Given the description of an element on the screen output the (x, y) to click on. 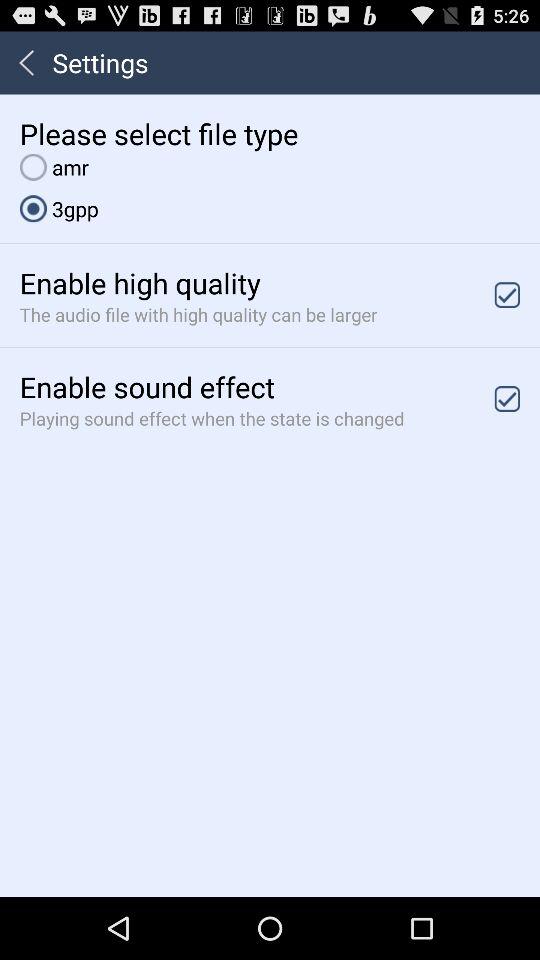
go back (26, 62)
